Given the description of an element on the screen output the (x, y) to click on. 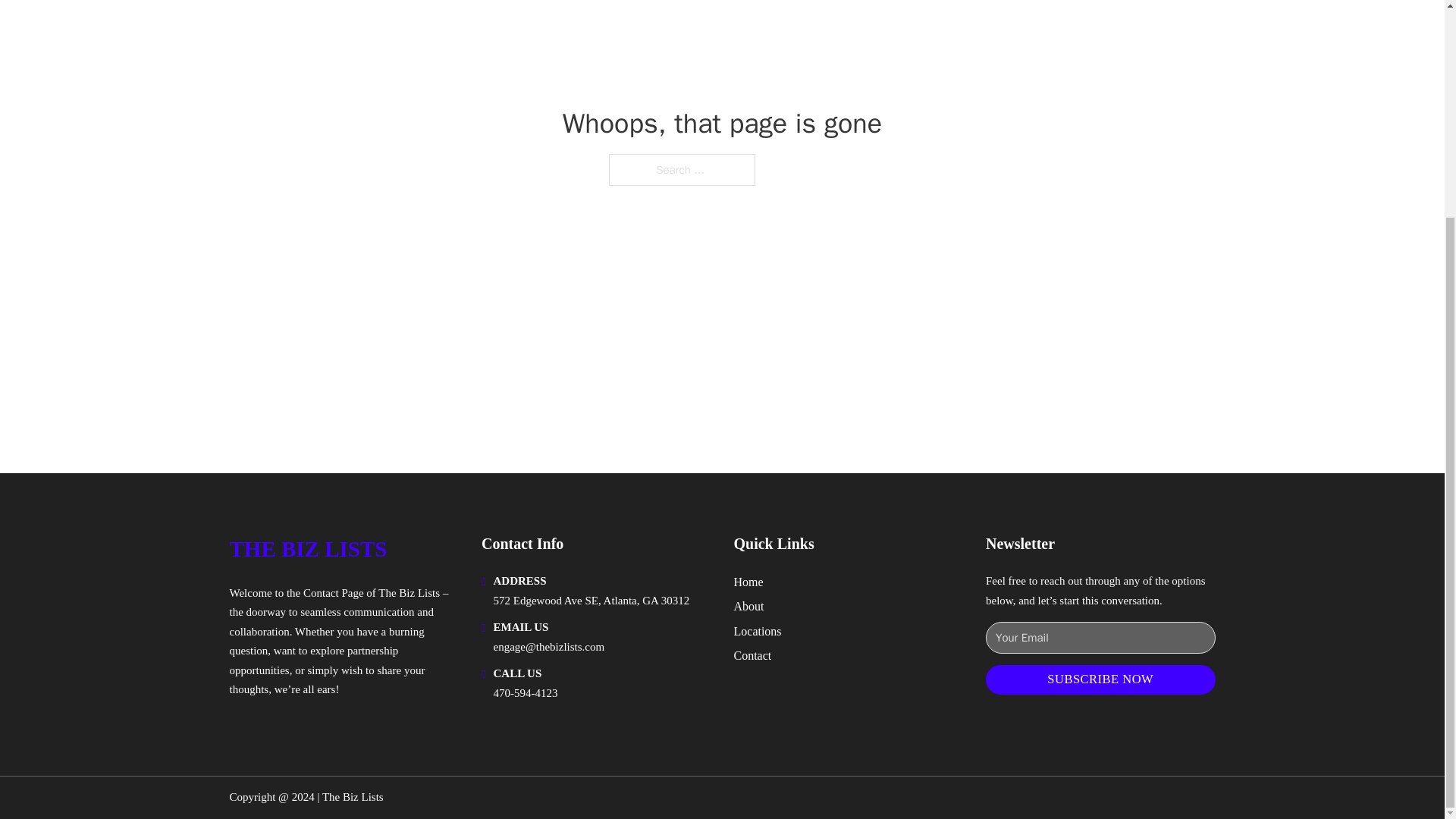
About (748, 606)
Contact (752, 655)
Home (747, 581)
SUBSCRIBE NOW (1100, 679)
470-594-4123 (525, 693)
THE BIZ LISTS (307, 549)
Locations (757, 630)
